Given the description of an element on the screen output the (x, y) to click on. 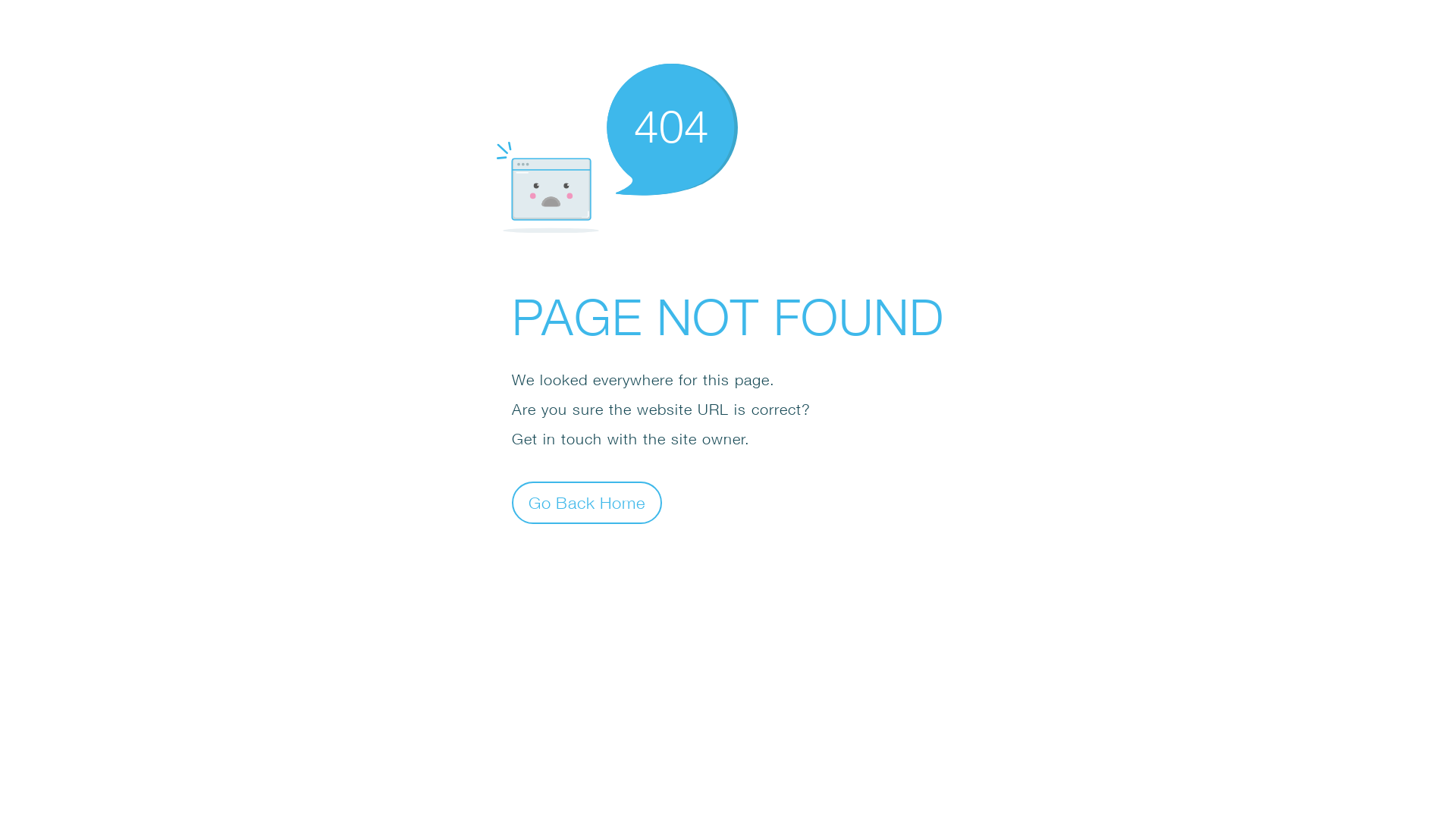
Go Back Home Element type: text (586, 502)
